Given the description of an element on the screen output the (x, y) to click on. 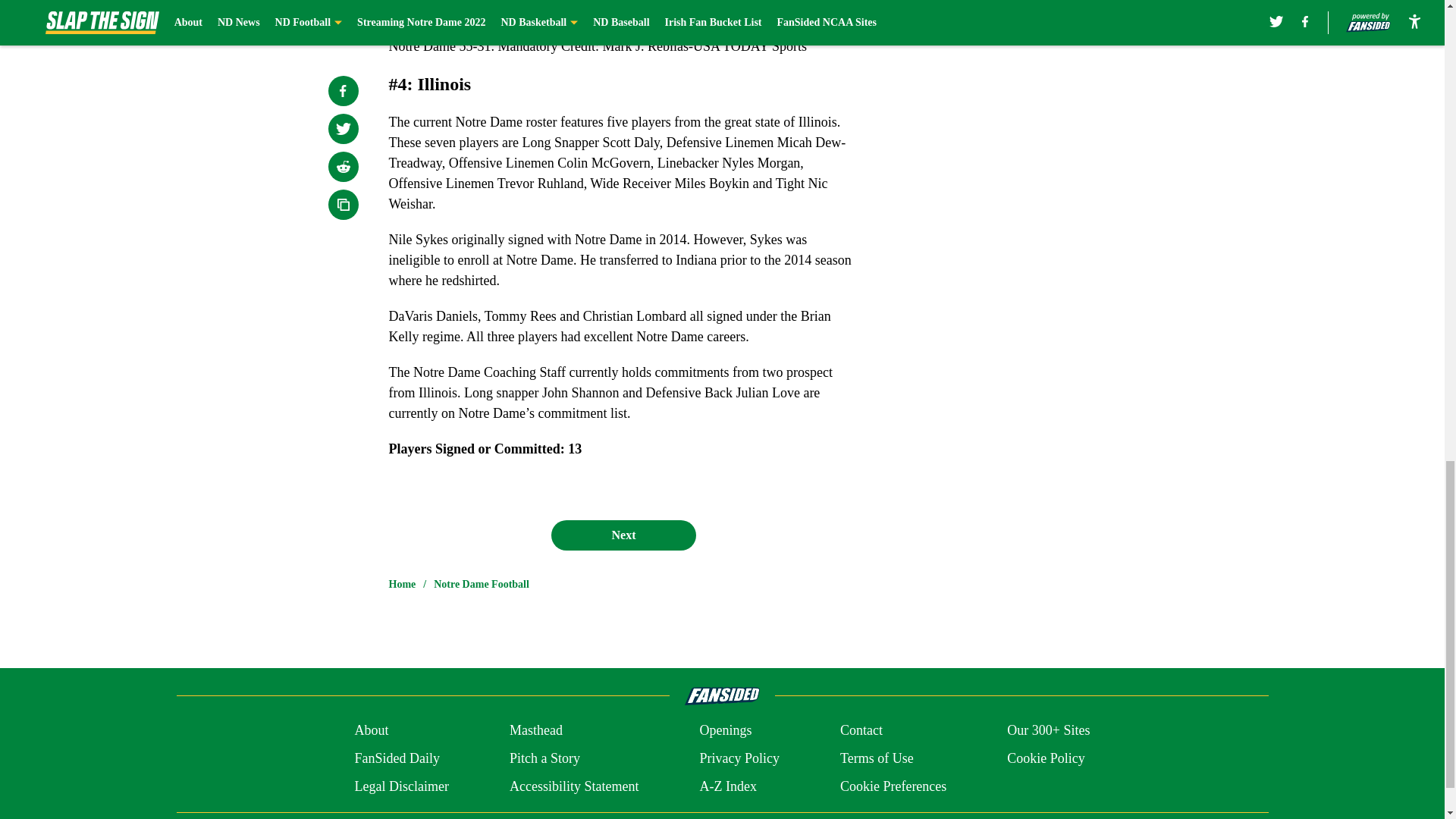
About (370, 730)
Privacy Policy (738, 758)
Next (622, 535)
Masthead (535, 730)
Pitch a Story (544, 758)
Openings (724, 730)
Terms of Use (877, 758)
Legal Disclaimer (400, 786)
FanSided Daily (396, 758)
Contact (861, 730)
Home (401, 584)
Notre Dame Football (481, 584)
Cookie Policy (1045, 758)
